Given the description of an element on the screen output the (x, y) to click on. 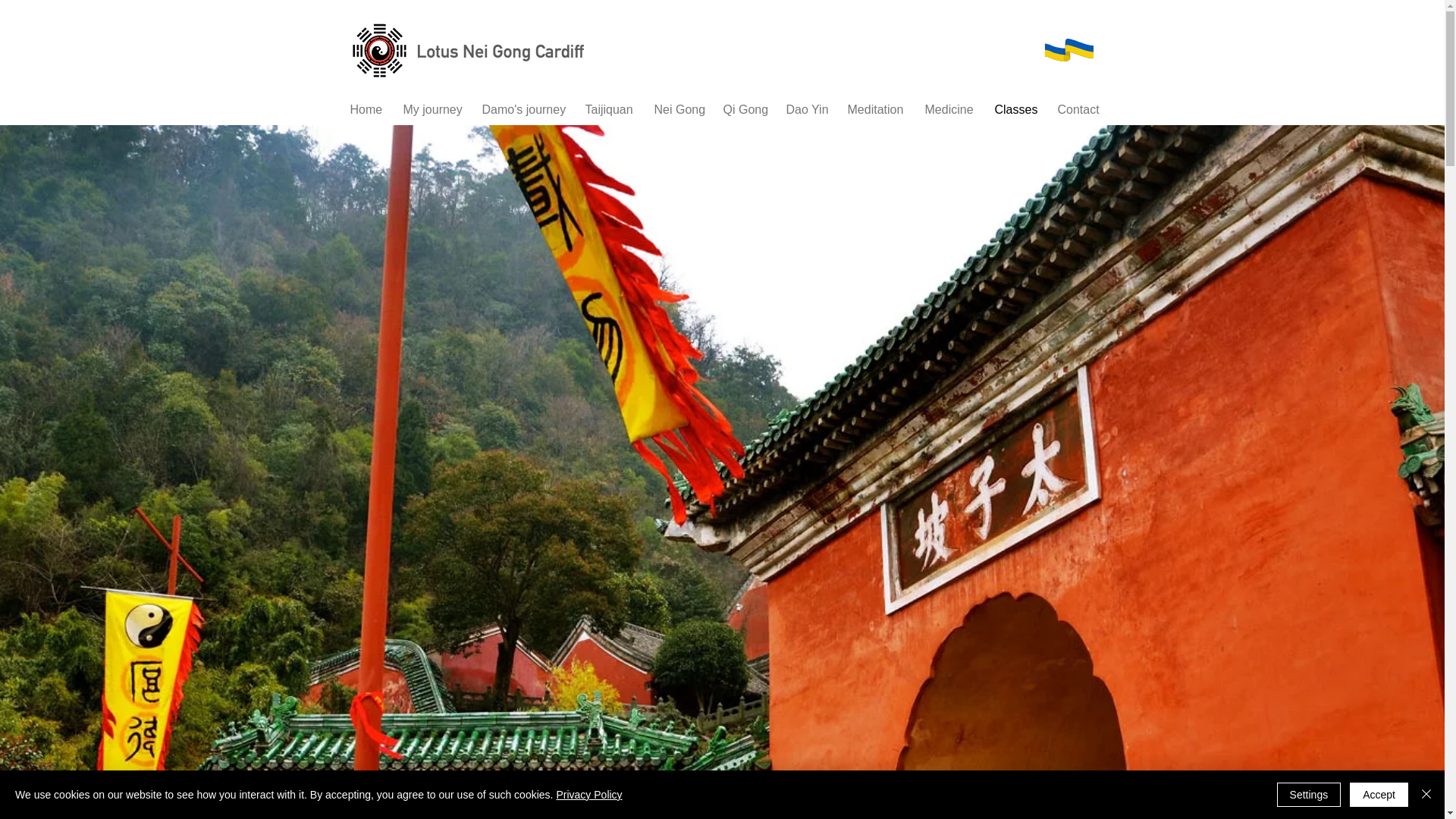
Contact (1077, 109)
Privacy Policy (588, 794)
Qi Gong (742, 109)
Home (364, 109)
Classes (1013, 109)
Medicine (947, 109)
Damo's journey (521, 109)
Taijiquan (607, 109)
Settings (1308, 794)
Accept (1378, 794)
